Given the description of an element on the screen output the (x, y) to click on. 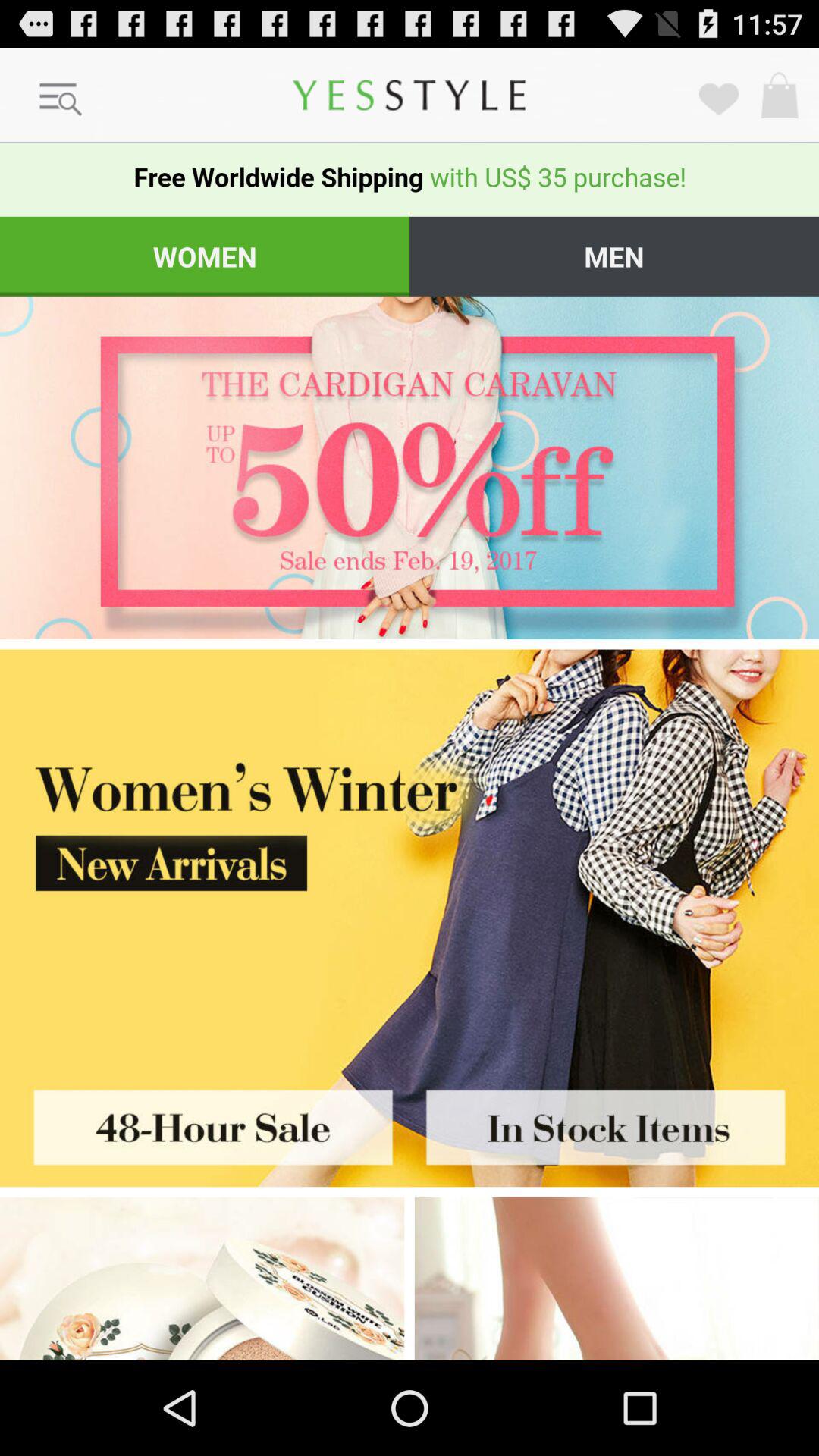
advertisement page (409, 467)
